Given the description of an element on the screen output the (x, y) to click on. 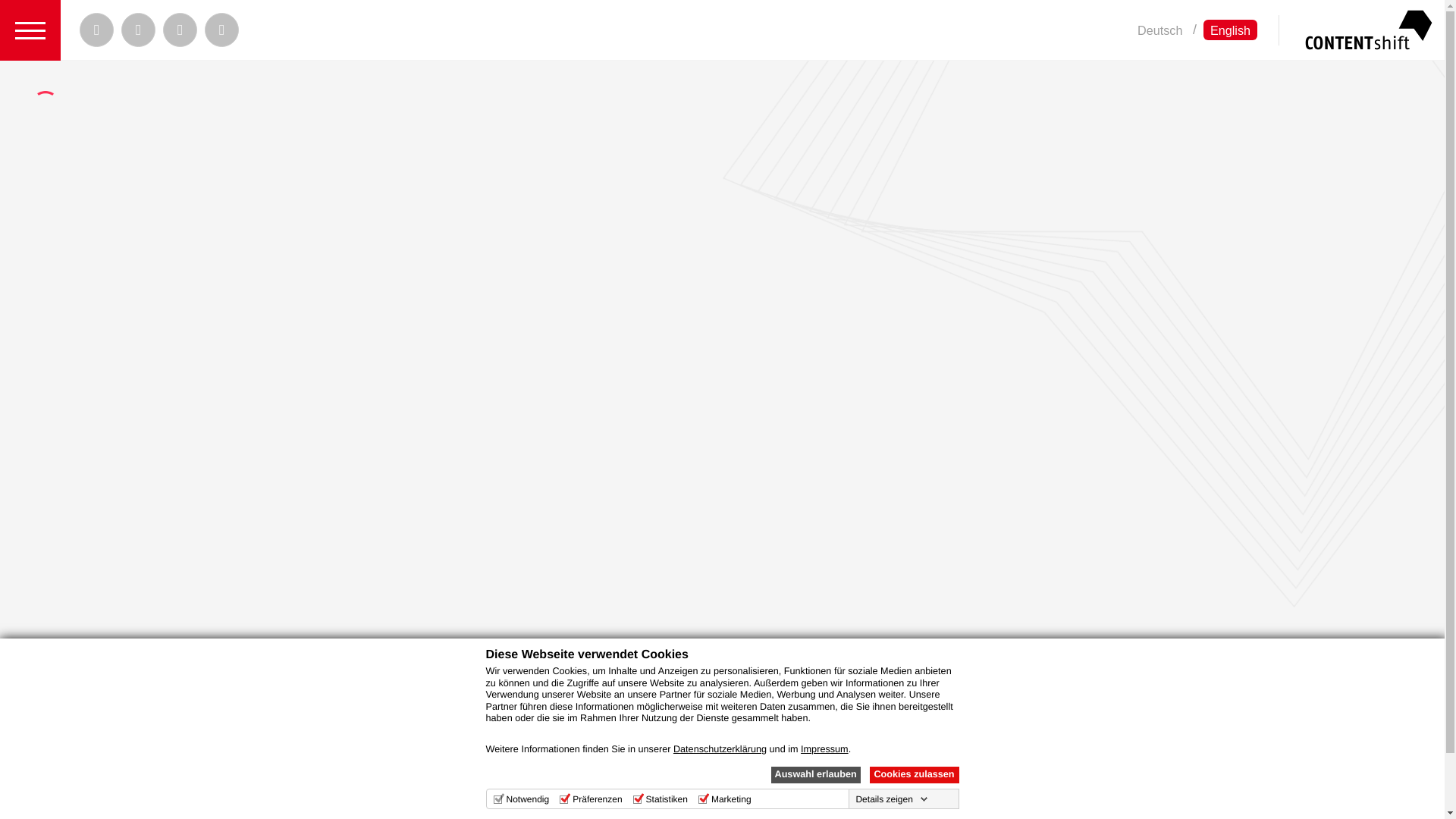
Auswahl erlauben (815, 774)
Details zeigen (890, 799)
Impressum (824, 748)
Cookies zulassen (913, 774)
